Given the description of an element on the screen output the (x, y) to click on. 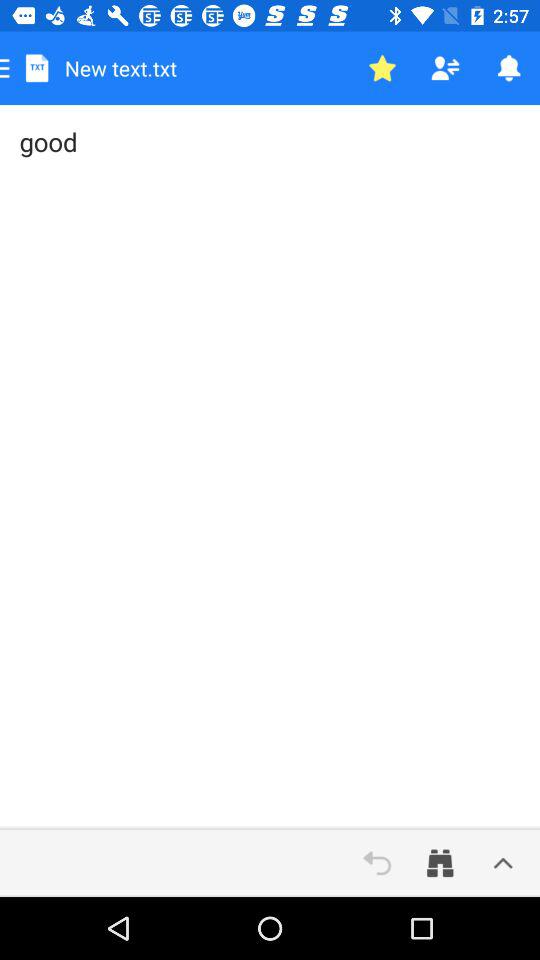
choose icon below the good item (503, 863)
